Given the description of an element on the screen output the (x, y) to click on. 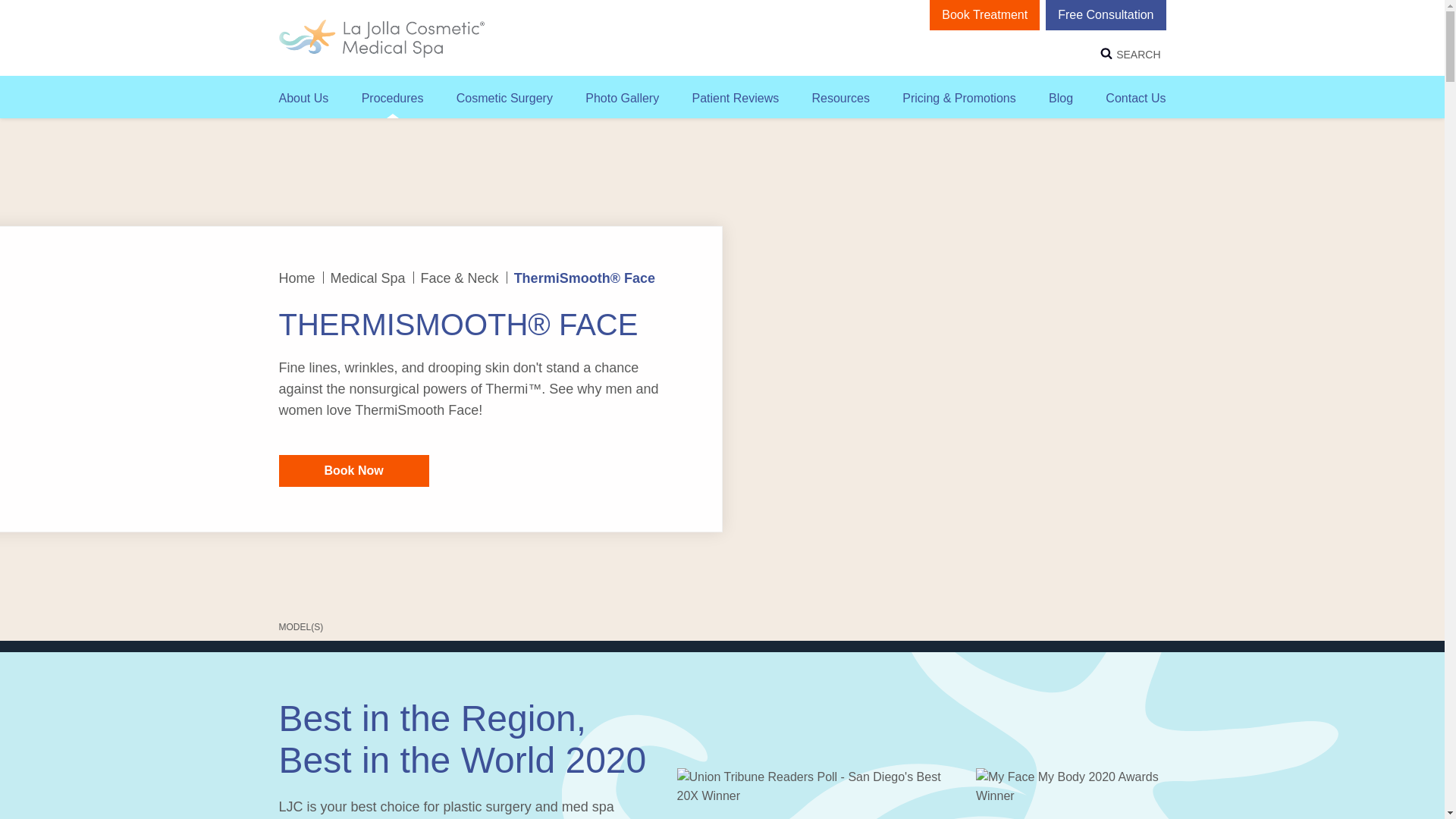
SEARCH (1138, 52)
Procedures (392, 96)
Book Treatment (984, 15)
Free Consultation (1105, 15)
About Us (304, 96)
